Given the description of an element on the screen output the (x, y) to click on. 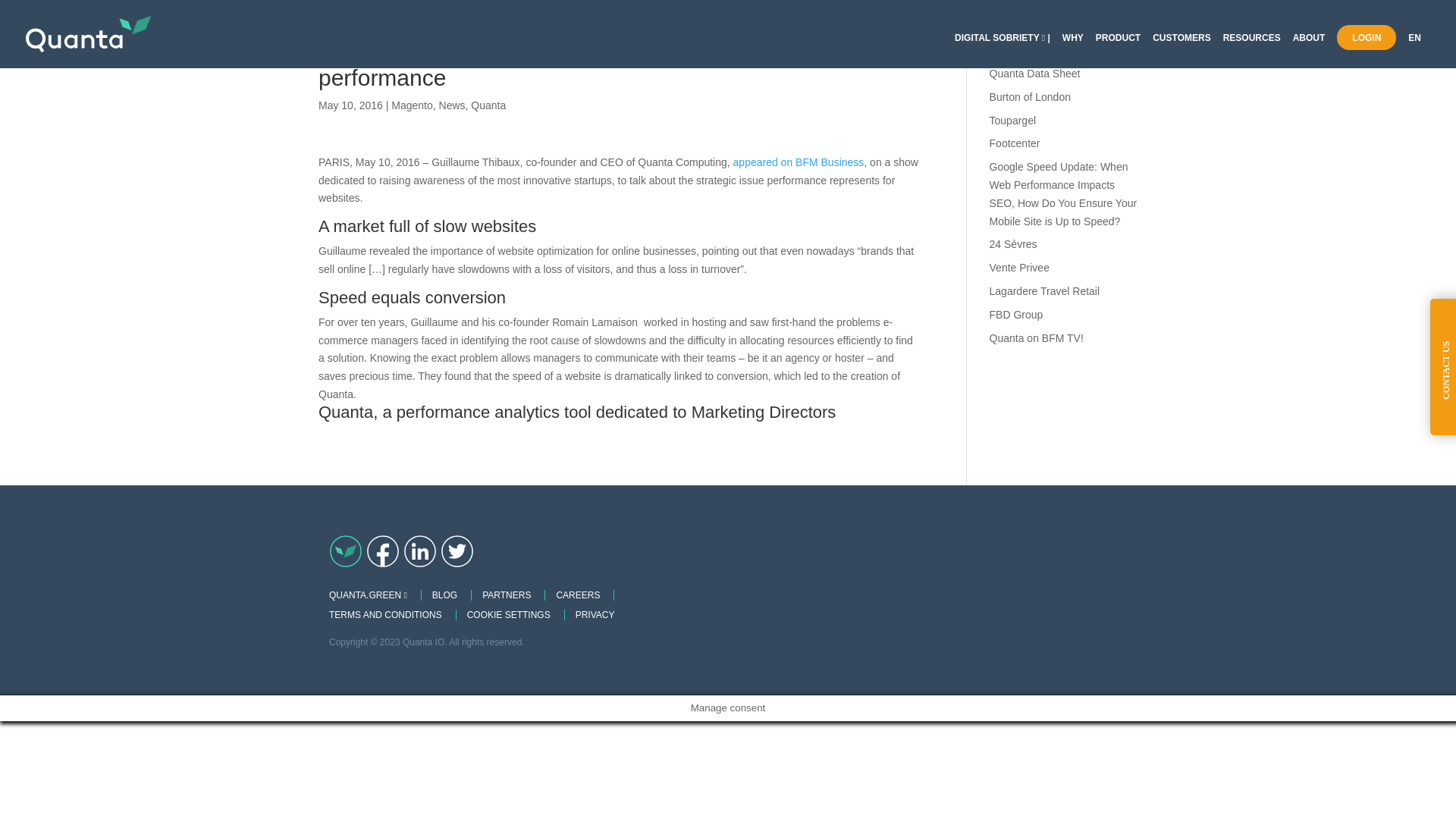
BLOG (444, 594)
LinkedIn (419, 551)
COOKIE SETTINGS (508, 614)
appeared on BFM Business (798, 162)
PRIVACY (594, 614)
Quanta on BFM TV! (1036, 337)
Vente Privee (1019, 267)
Toupargel (1013, 120)
ABOUT (1308, 49)
Blog (345, 551)
Twitter (457, 551)
Footcenter (1015, 143)
TERMS AND CONDITIONS (385, 614)
Burton of London (1030, 96)
